Given the description of an element on the screen output the (x, y) to click on. 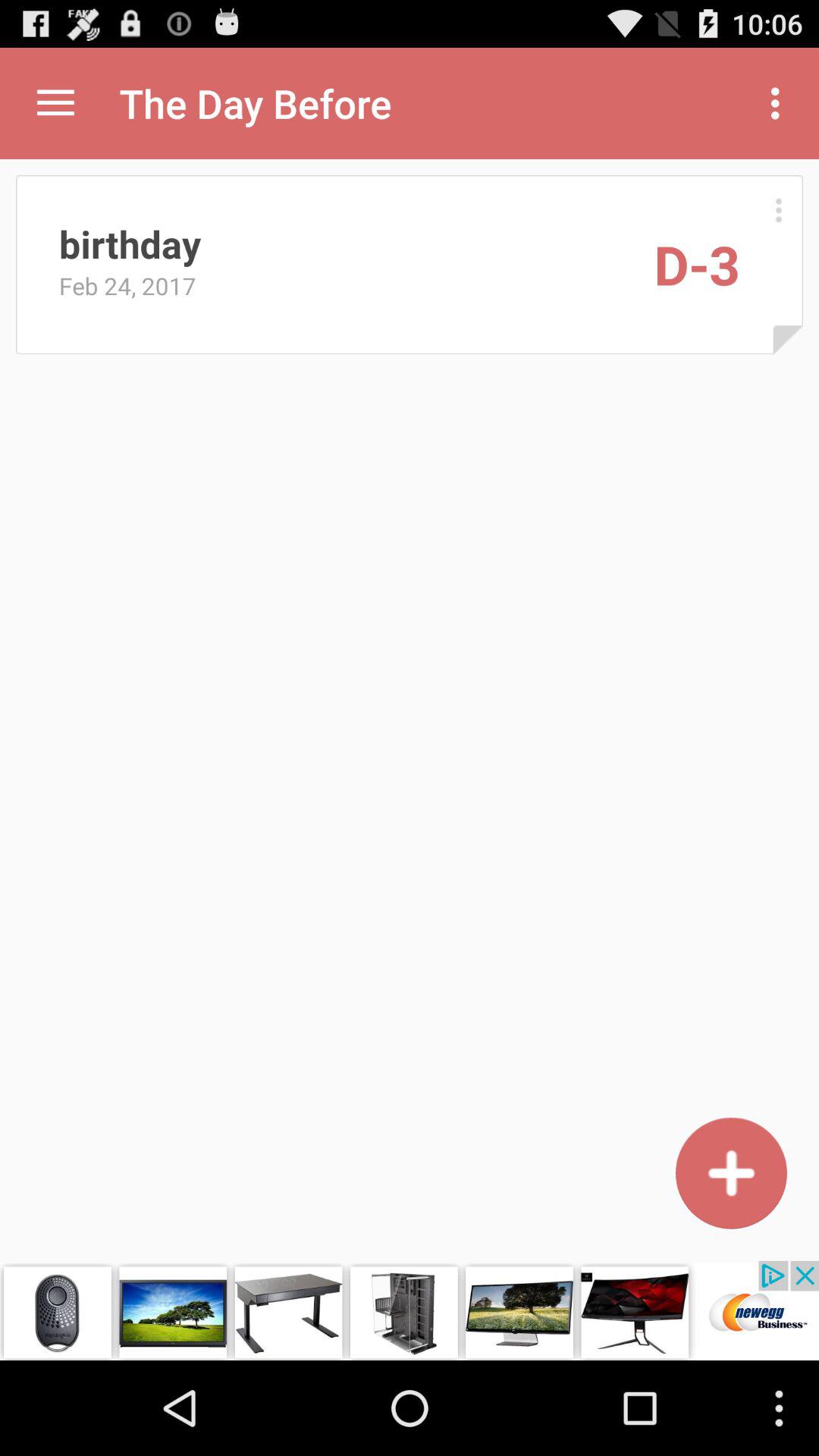
go to select option (777, 209)
